Given the description of an element on the screen output the (x, y) to click on. 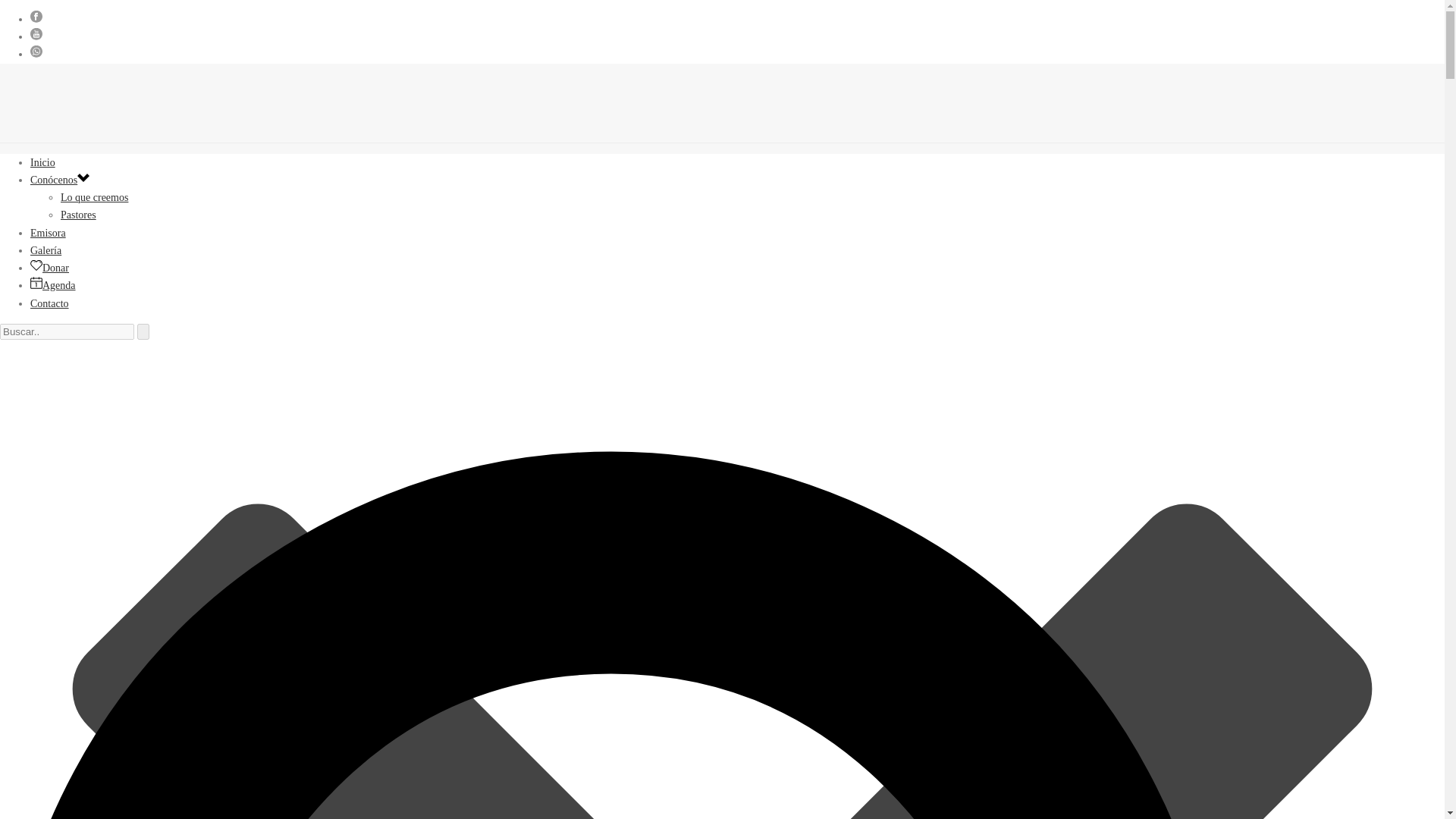
Agenda (52, 285)
Agenda (52, 285)
Emisora (47, 233)
Donar (49, 267)
Pastores (78, 214)
Pastores (78, 214)
Lo que creemos (94, 197)
Contacto (49, 303)
Lo que creemos (94, 197)
Emisora (47, 233)
